Given the description of an element on the screen output the (x, y) to click on. 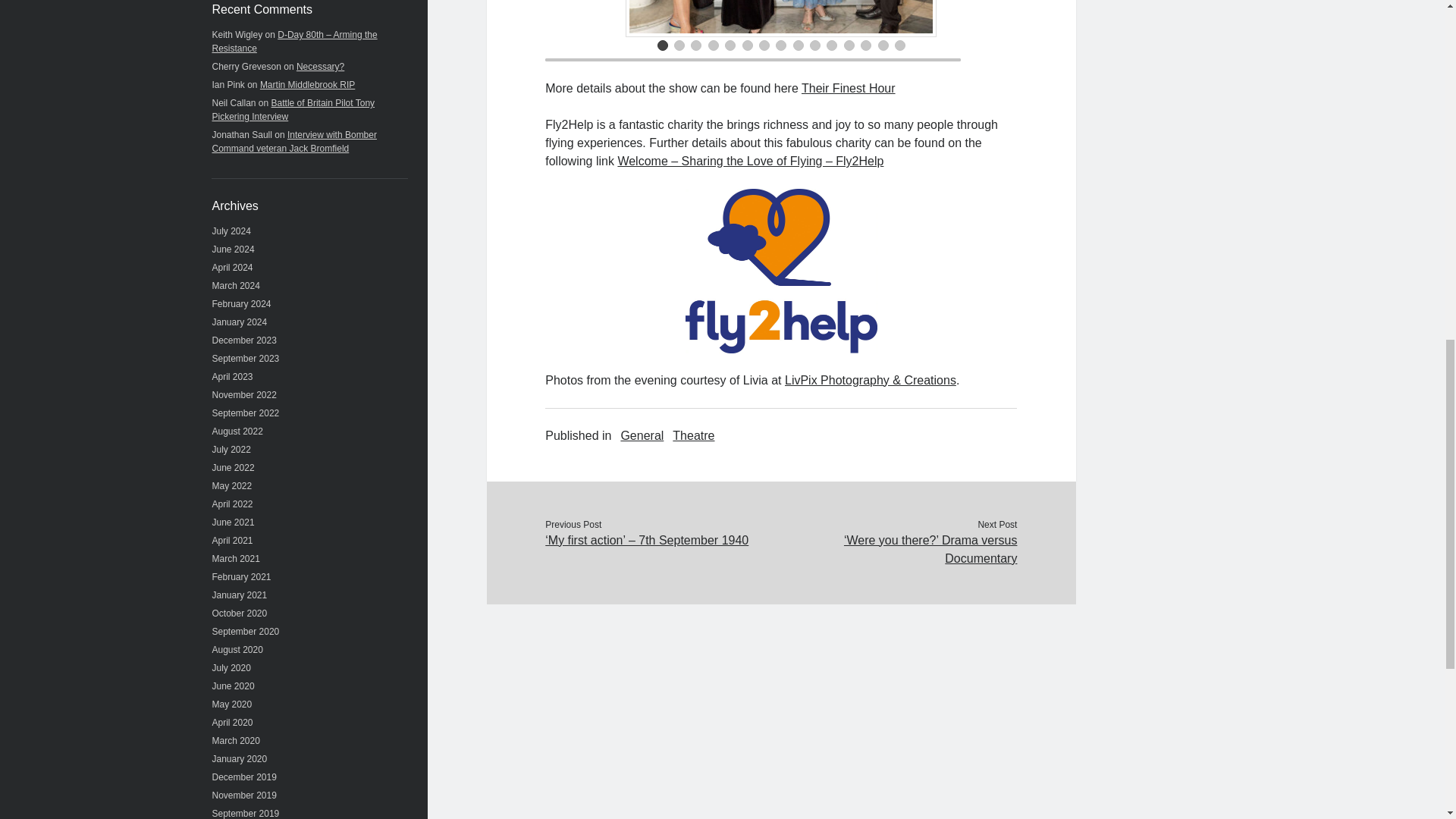
View all posts in General (641, 435)
View all posts in Theatre (693, 435)
